Given the description of an element on the screen output the (x, y) to click on. 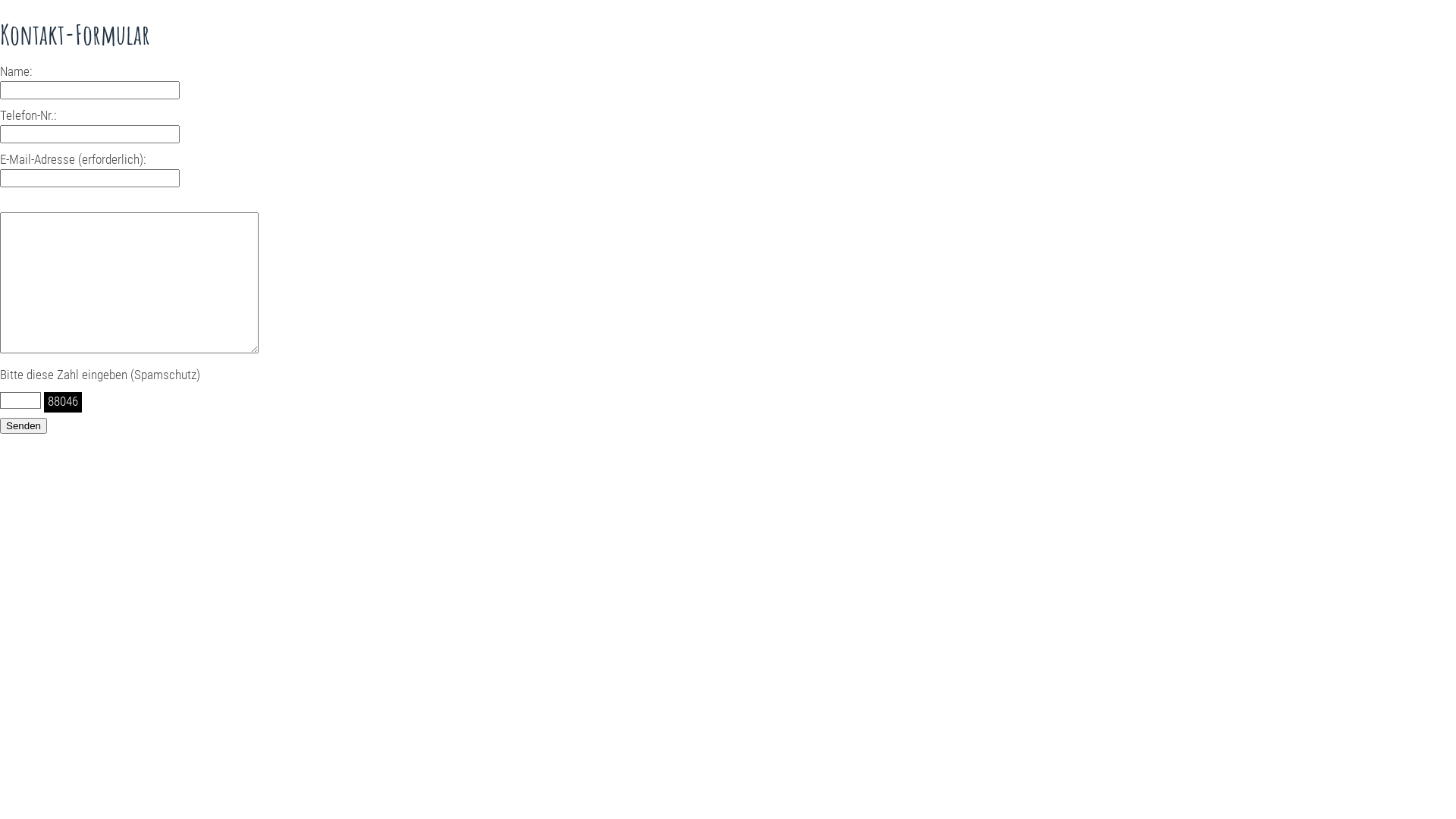
Senden Element type: text (23, 425)
